Given the description of an element on the screen output the (x, y) to click on. 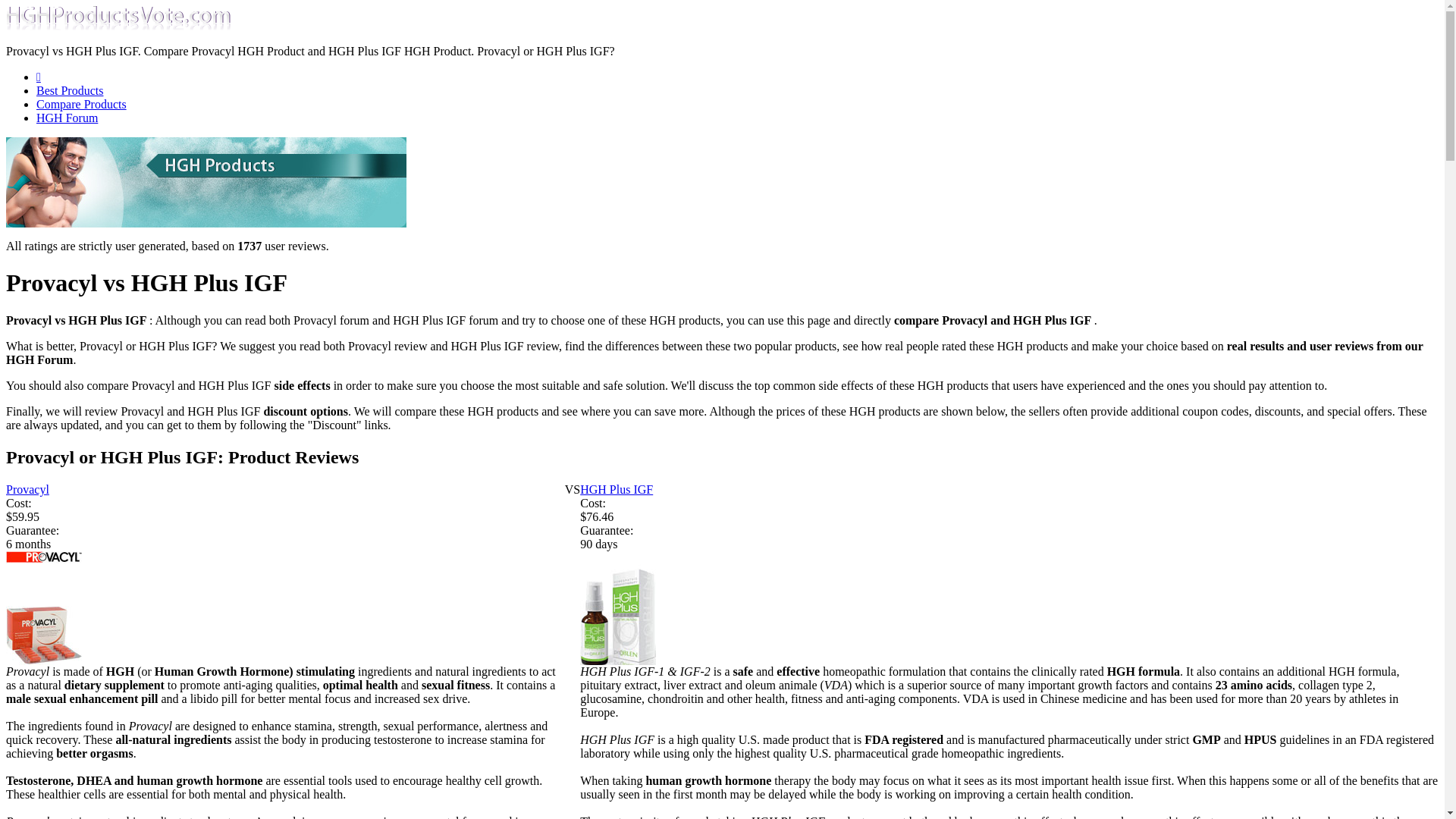
HGH Forum (66, 117)
Provacyl (27, 489)
Best Products (69, 90)
Compare Products (81, 103)
HGH Plus IGF (615, 489)
